Given the description of an element on the screen output the (x, y) to click on. 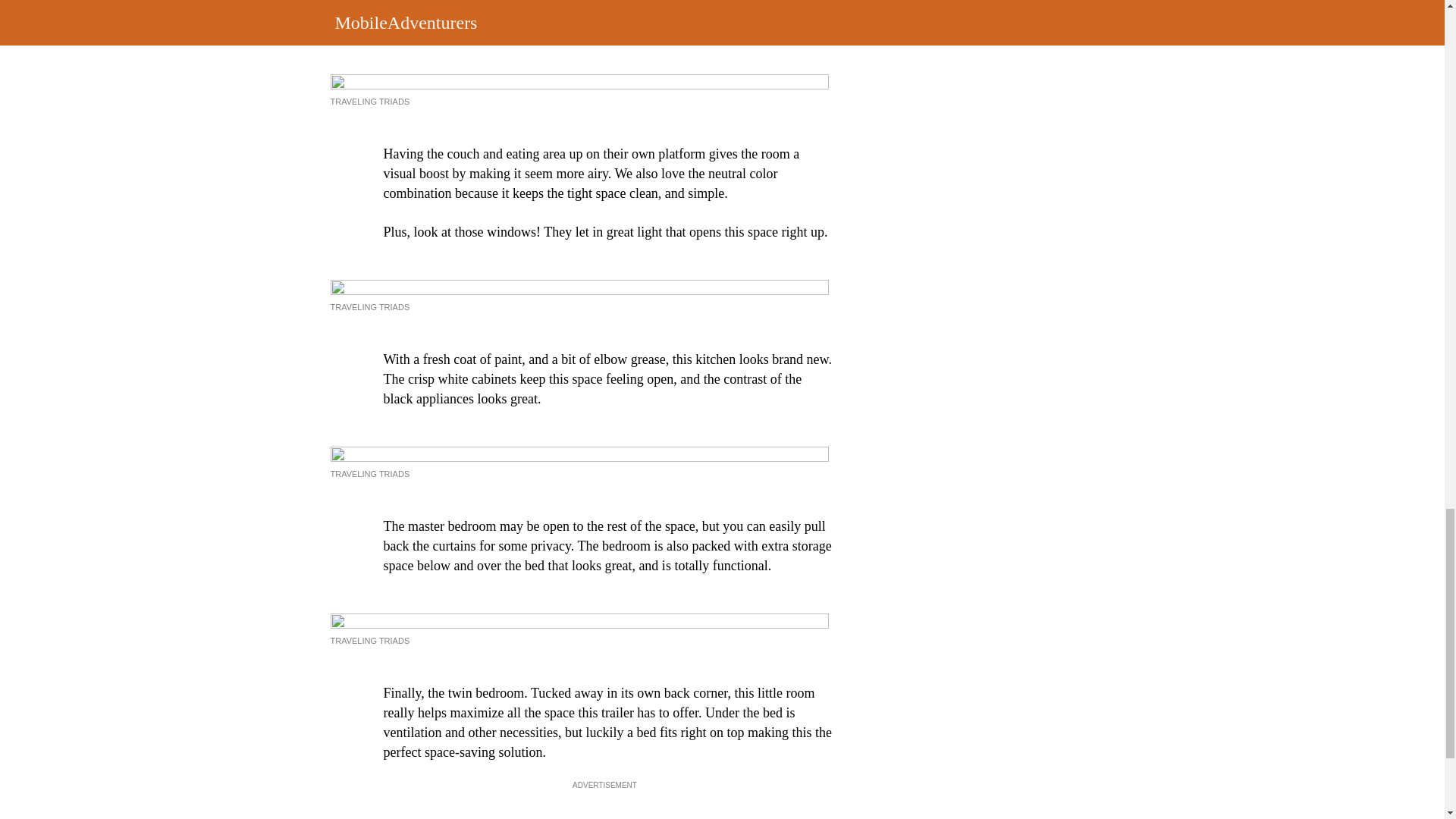
TRAVELING TRIADS (370, 307)
TRAVELING TRIADS (370, 473)
TRAVELING TRIADS (370, 101)
TRAVELING TRIADS (370, 640)
